Given the description of an element on the screen output the (x, y) to click on. 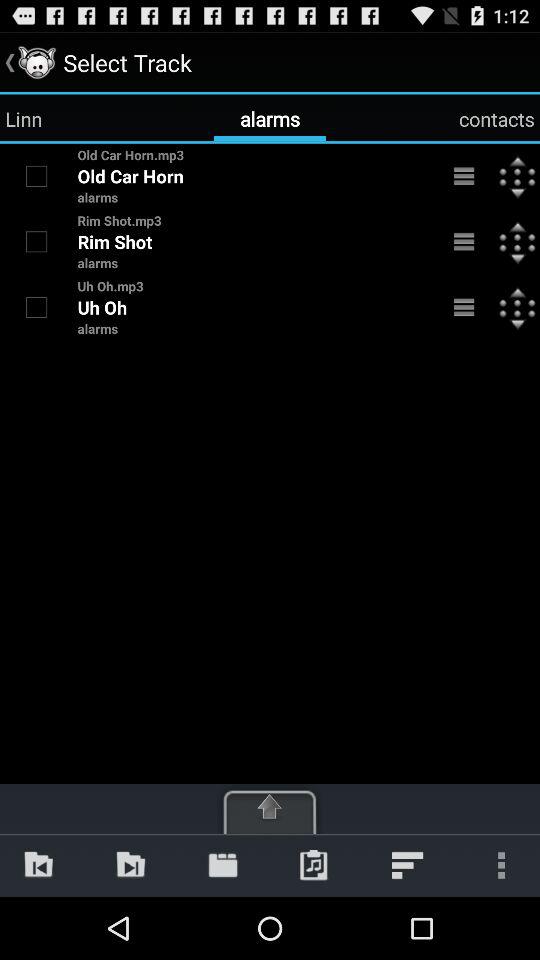
to select (36, 176)
